Given the description of an element on the screen output the (x, y) to click on. 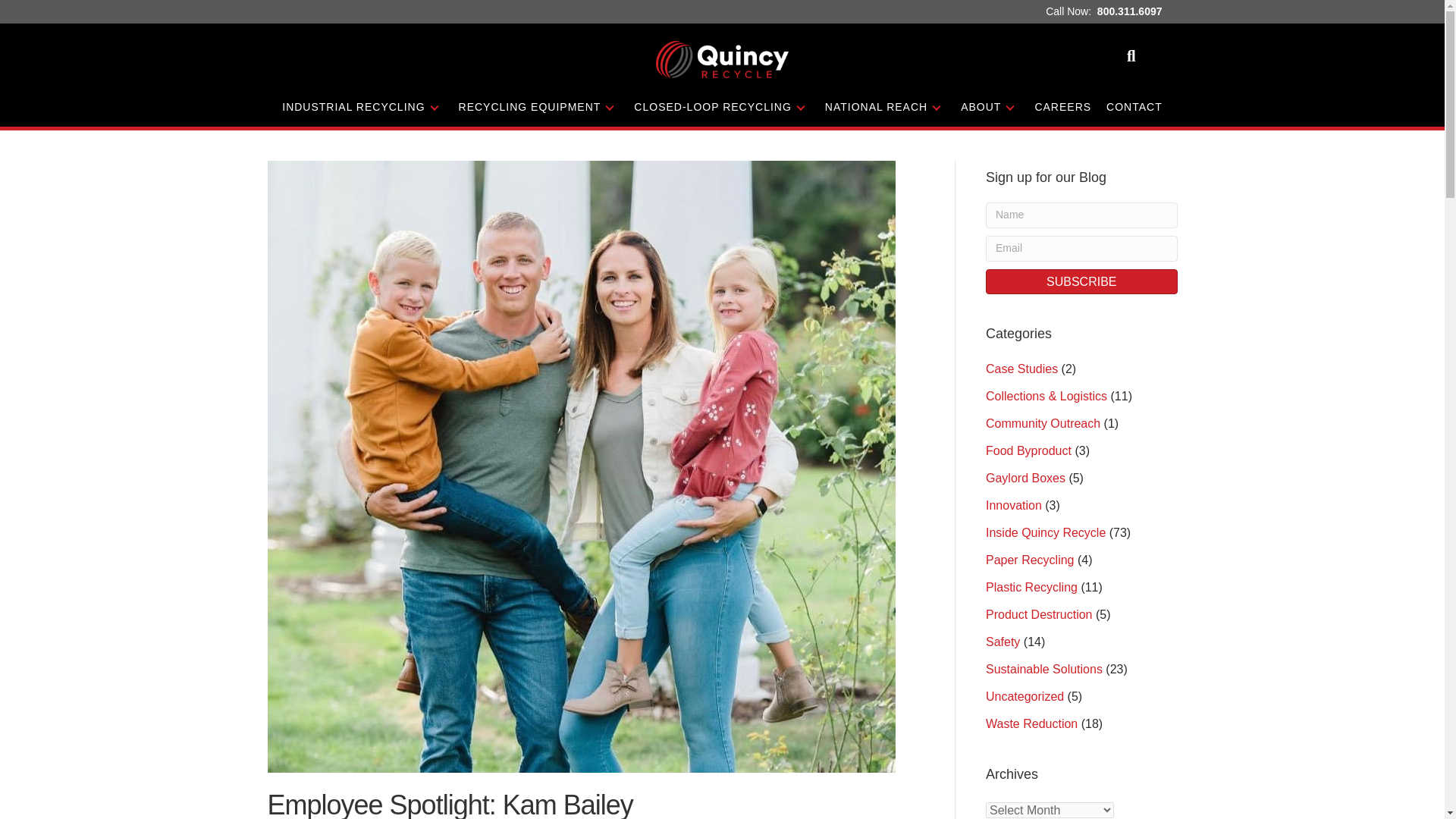
RECYCLING EQUIPMENT (539, 107)
NATIONAL REACH (884, 107)
CLOSED-LOOP RECYCLING (721, 107)
INDUSTRIAL RECYCLING (362, 107)
800.311.6097 (1129, 10)
Subscribe (1081, 281)
Call 8003776097 via 3CX (1129, 10)
